Given the description of an element on the screen output the (x, y) to click on. 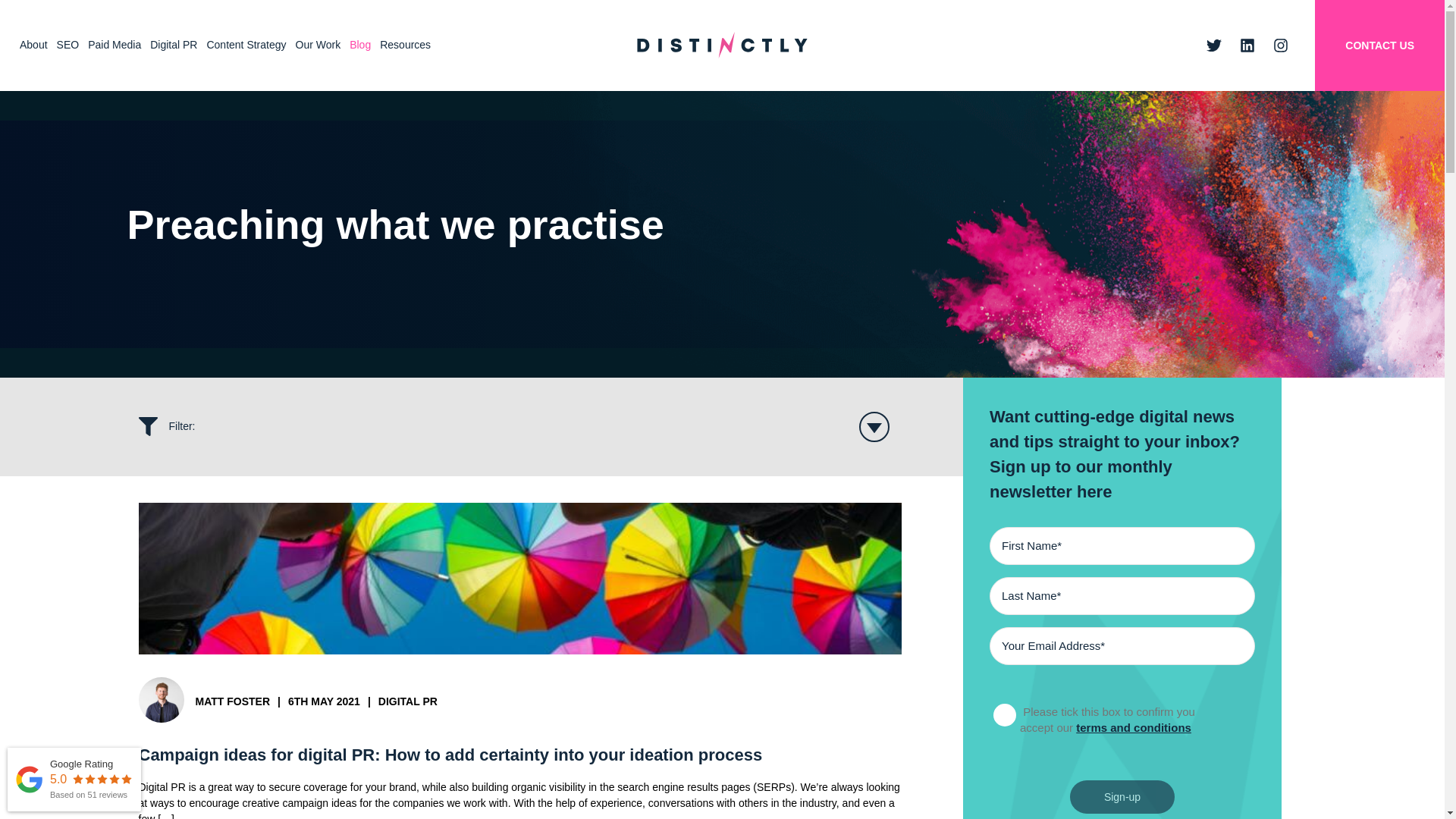
Resources (405, 45)
Content Strategy (245, 45)
About (33, 45)
Digital PR (173, 45)
Paid Media (113, 45)
Blog (360, 45)
Our Work (318, 45)
Sign-up (1122, 797)
SEO (68, 45)
